Given the description of an element on the screen output the (x, y) to click on. 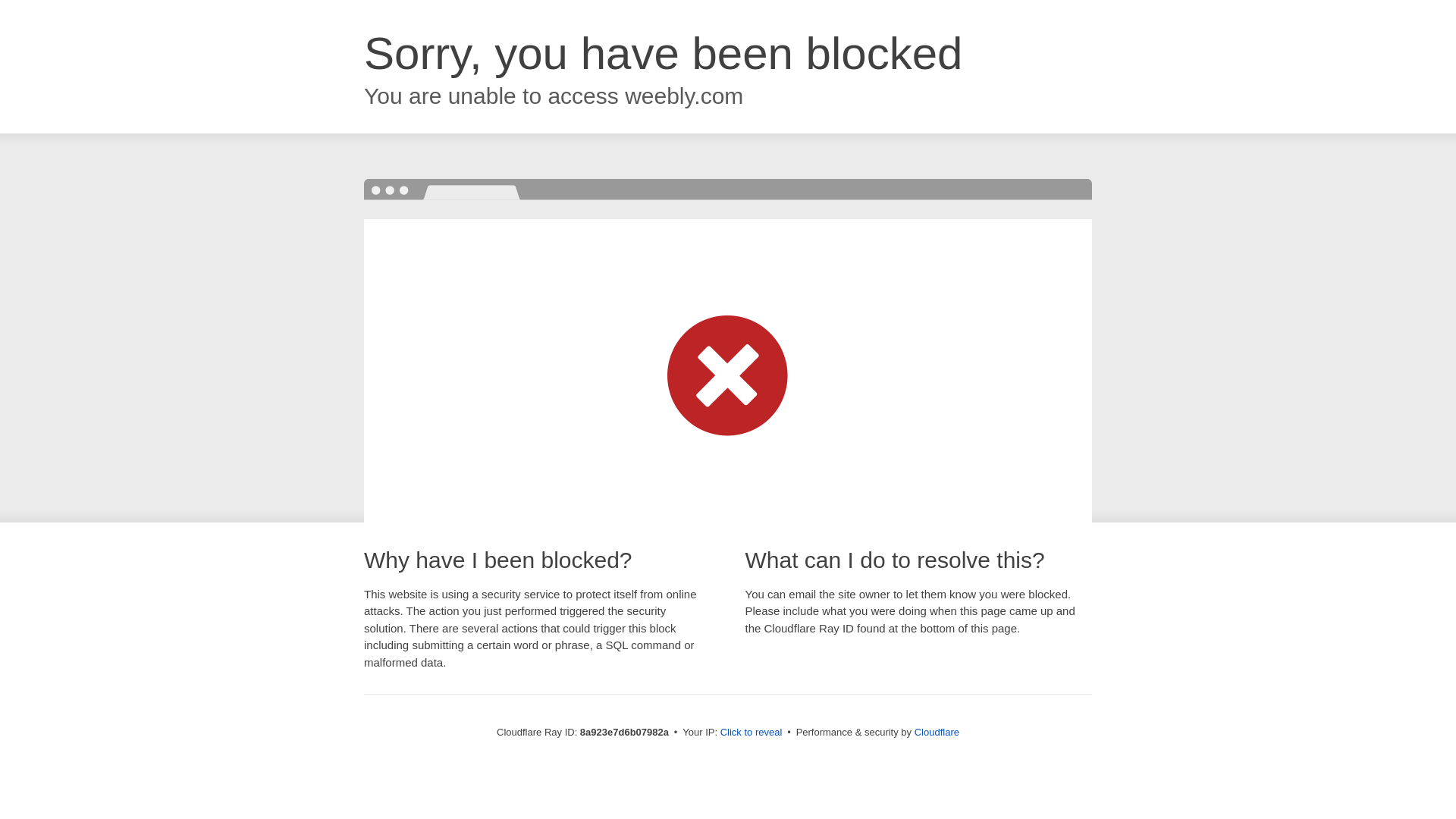
Click to reveal (751, 732)
Cloudflare (936, 731)
